Given the description of an element on the screen output the (x, y) to click on. 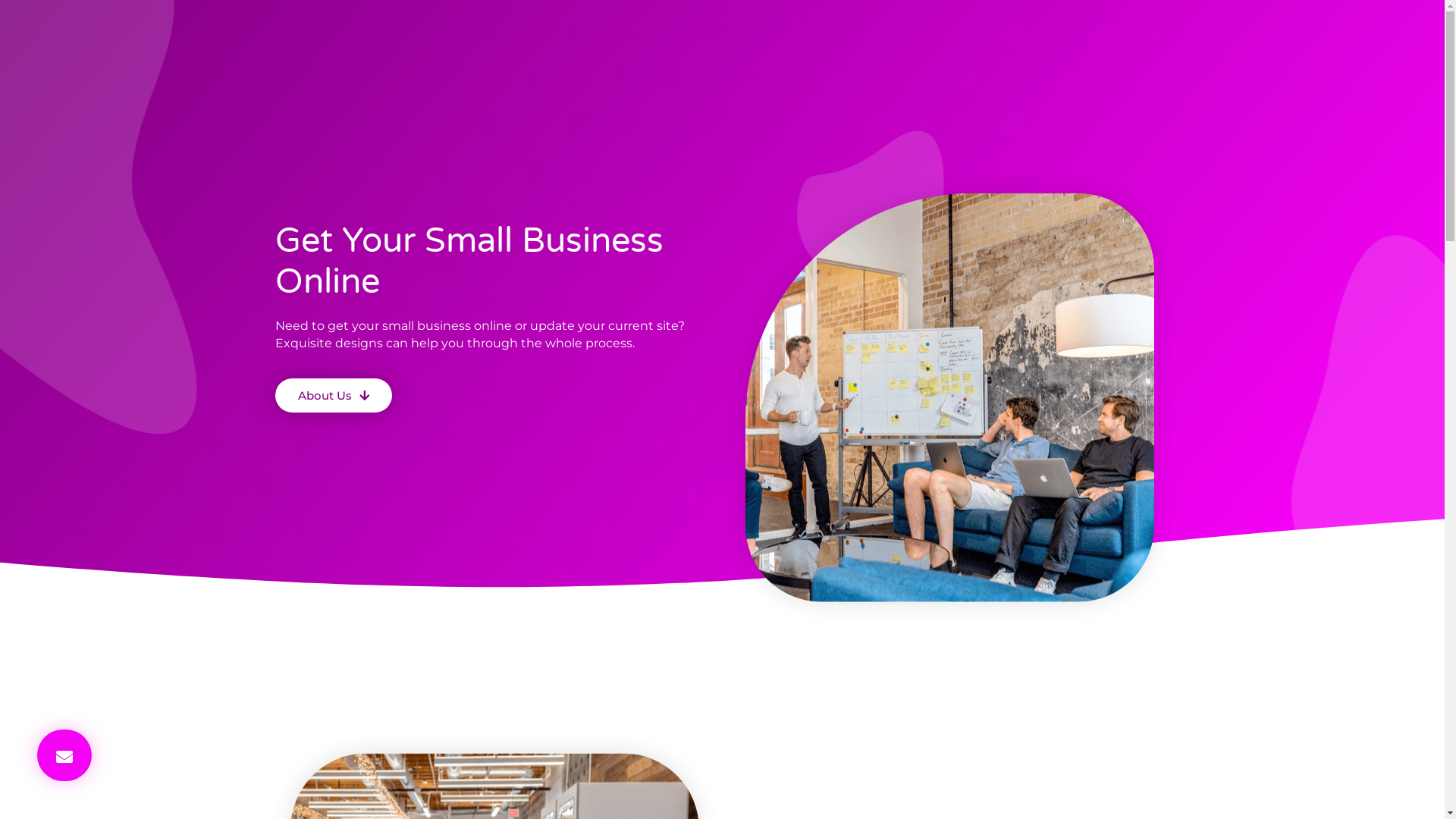
About Us Element type: text (332, 395)
